Given the description of an element on the screen output the (x, y) to click on. 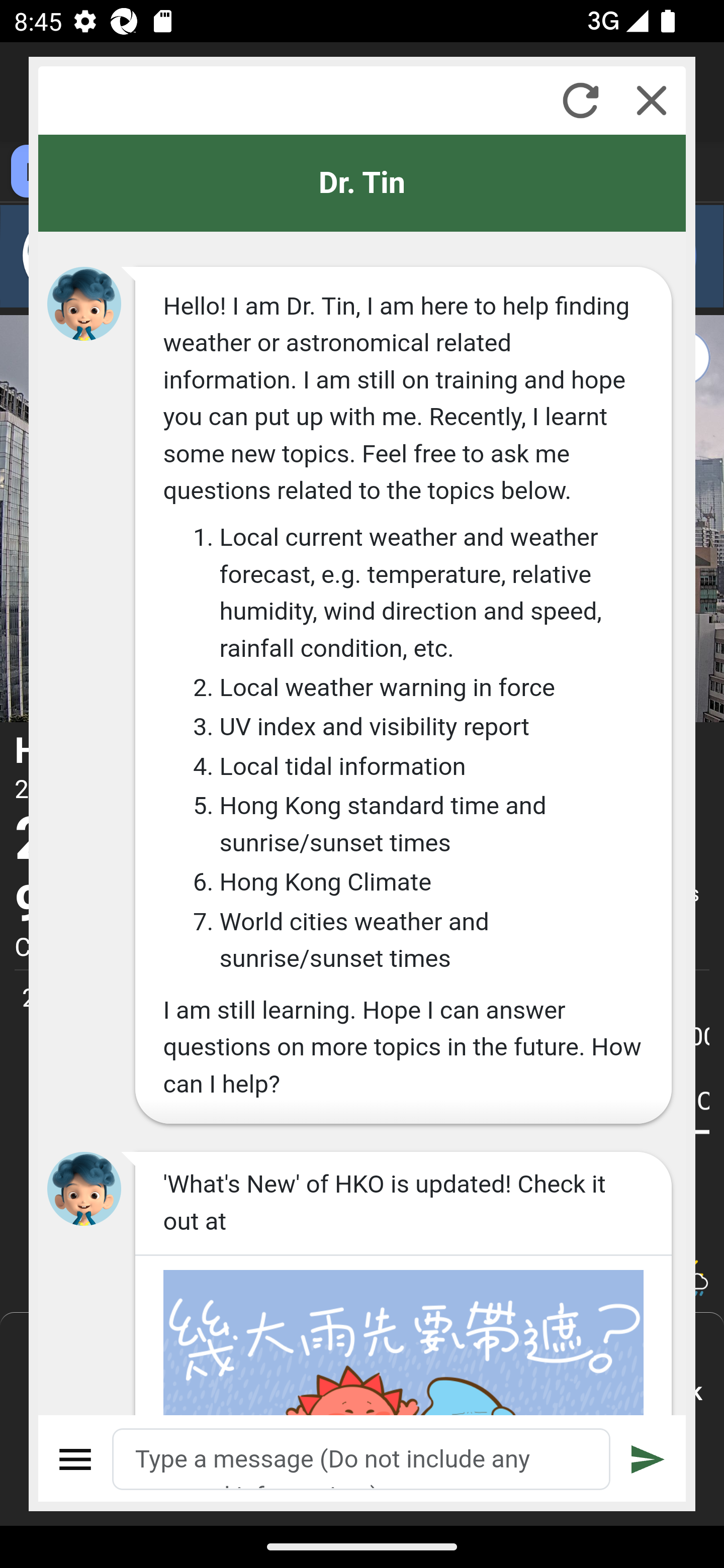
Refresh (580, 100)
Close (651, 100)
Menu (75, 1458)
Submit (648, 1458)
